Given the description of an element on the screen output the (x, y) to click on. 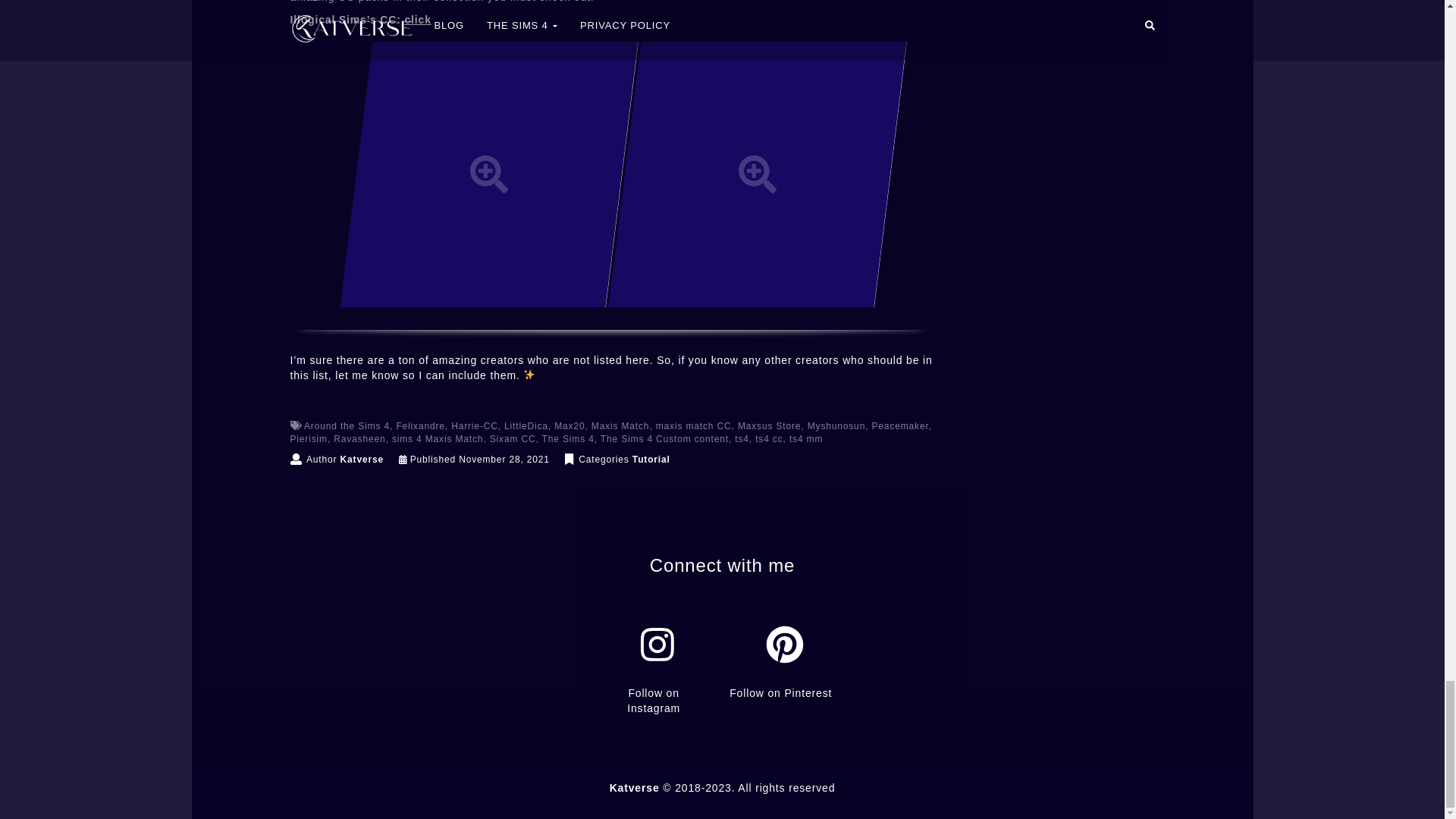
View all posts in Tutorial (650, 459)
